Given the description of an element on the screen output the (x, y) to click on. 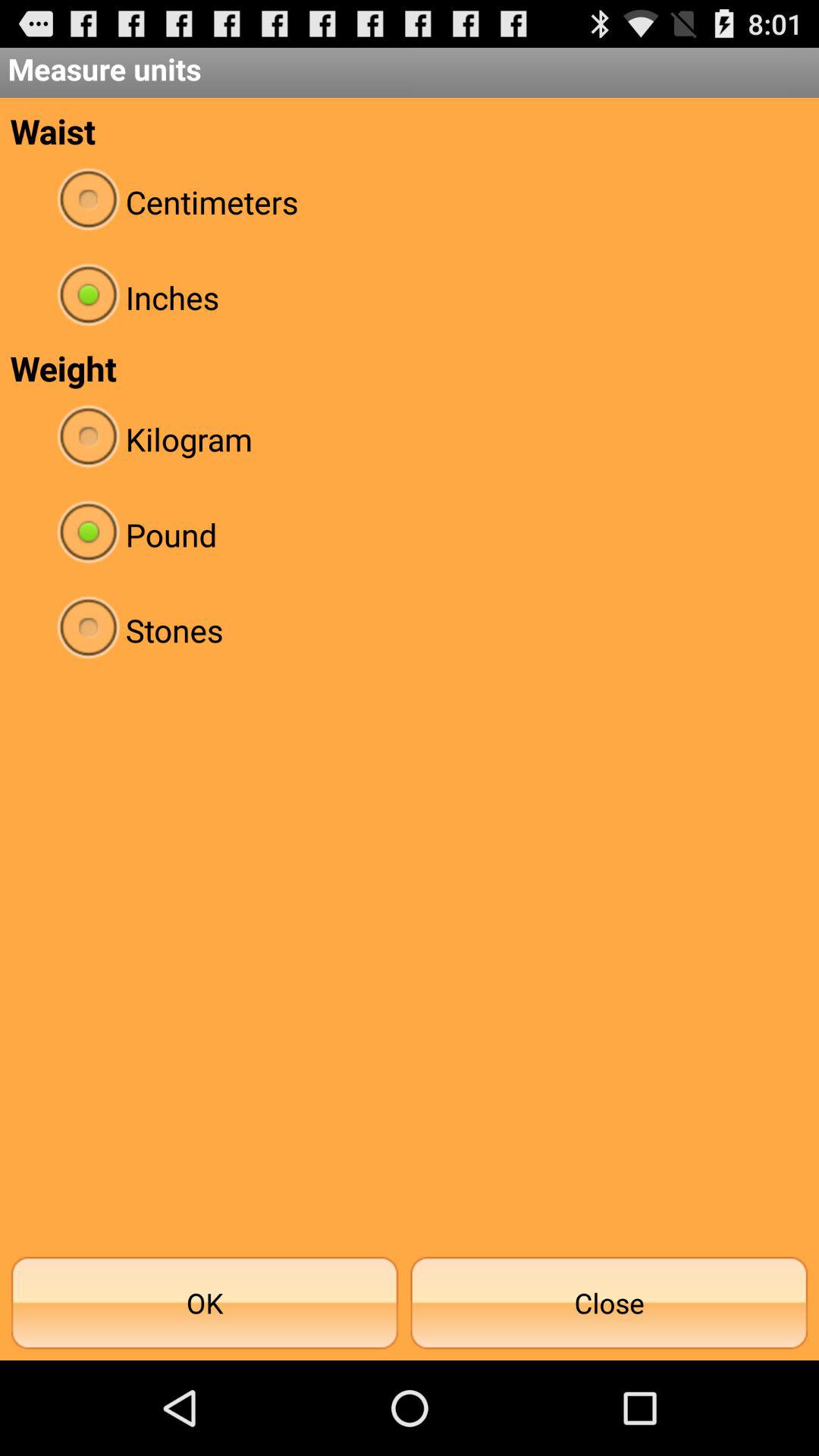
choose app below weight item (409, 438)
